Given the description of an element on the screen output the (x, y) to click on. 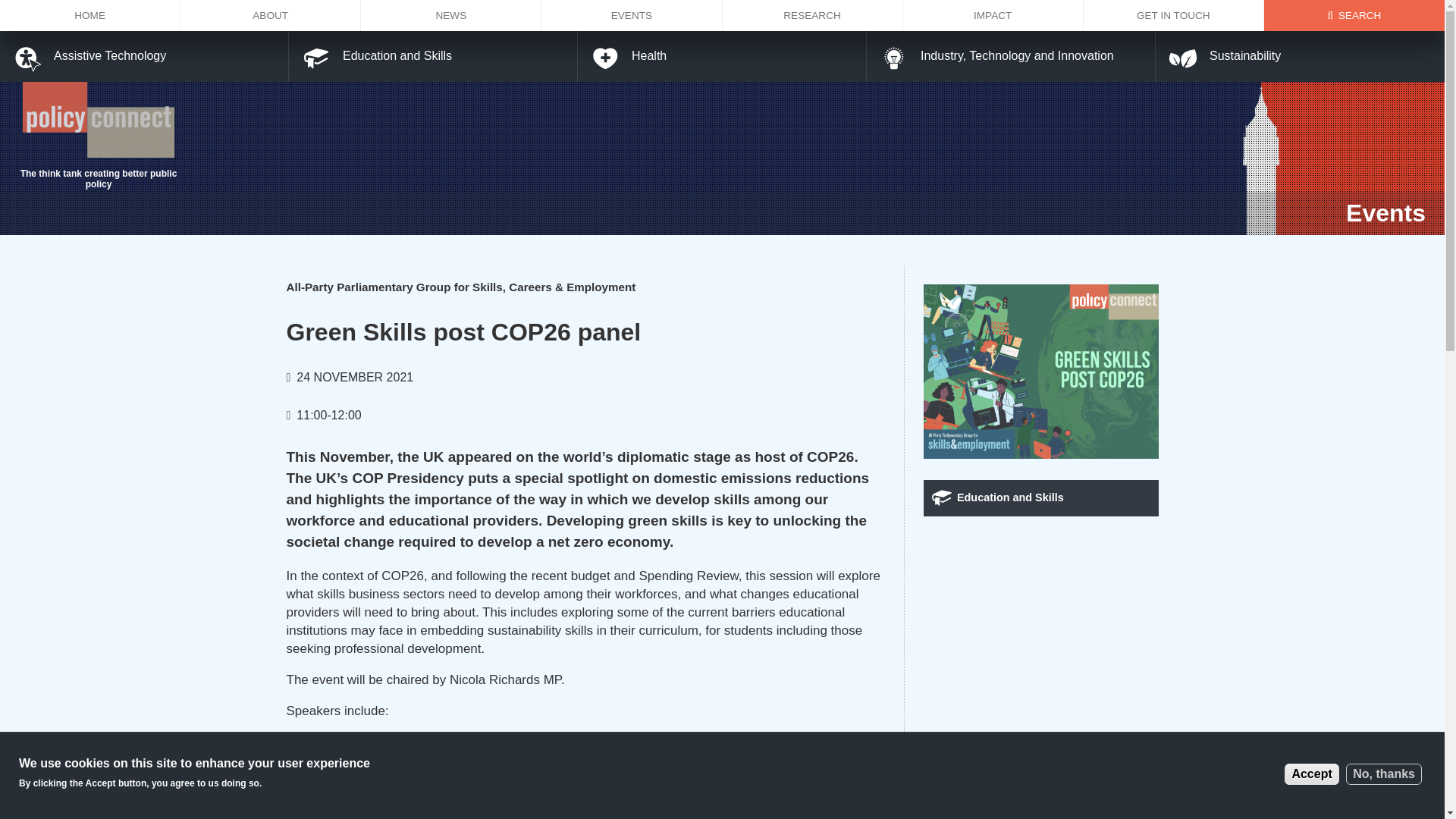
Education and Skills (1040, 497)
All events (631, 15)
NEWS (451, 15)
HOME (90, 15)
IMPACT (992, 15)
EVENTS (631, 15)
All research (812, 15)
Impact (992, 15)
GET IN TOUCH (1173, 15)
RESEARCH (812, 15)
ABOUT (270, 15)
All news (451, 15)
